Given the description of an element on the screen output the (x, y) to click on. 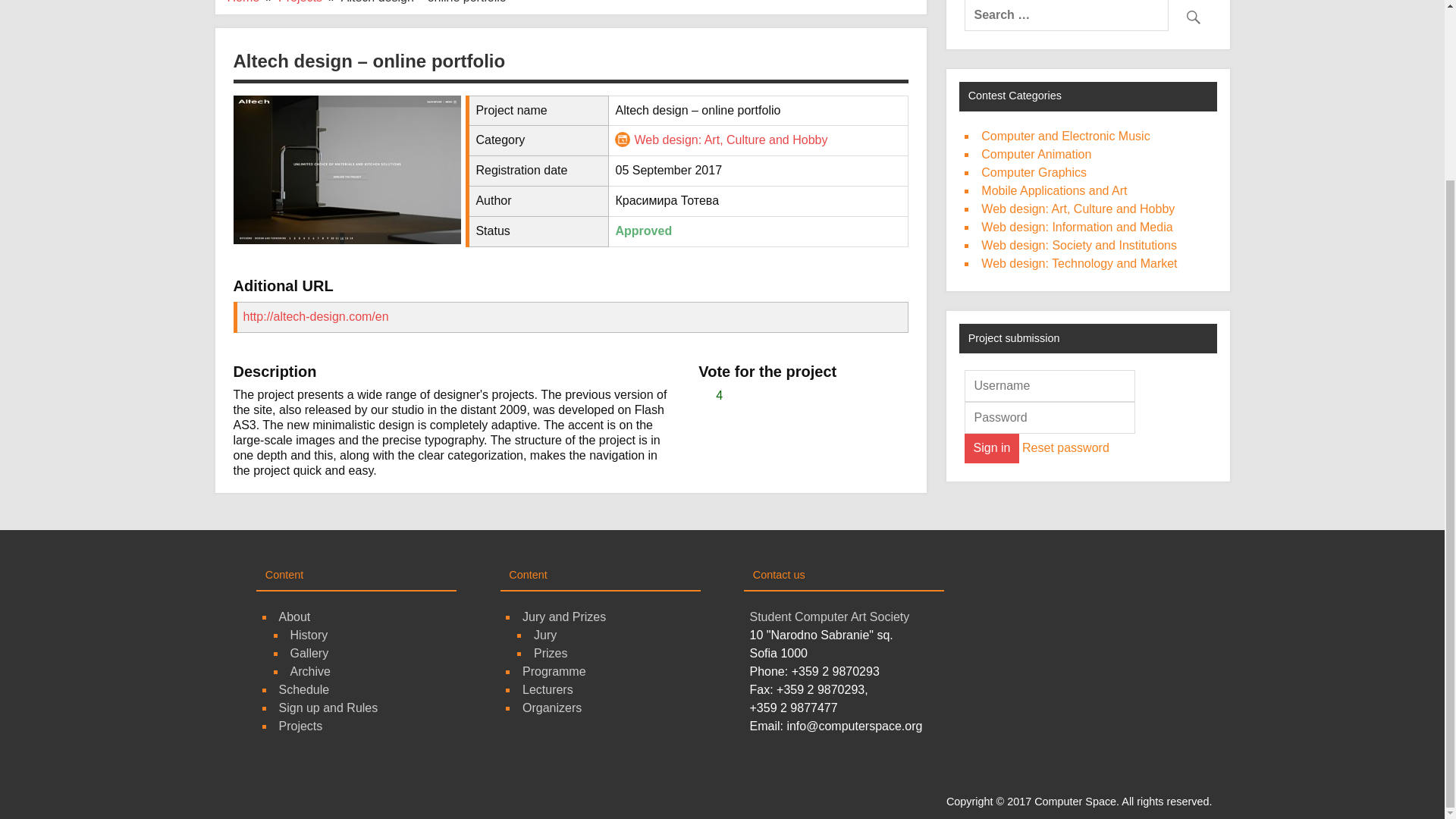
Web design: Art, Culture and Hobby (730, 139)
Projects (299, 2)
Sign in (990, 448)
Home (243, 2)
Computer and Electronic Music (1065, 135)
Computer Animation (1035, 154)
